Given the description of an element on the screen output the (x, y) to click on. 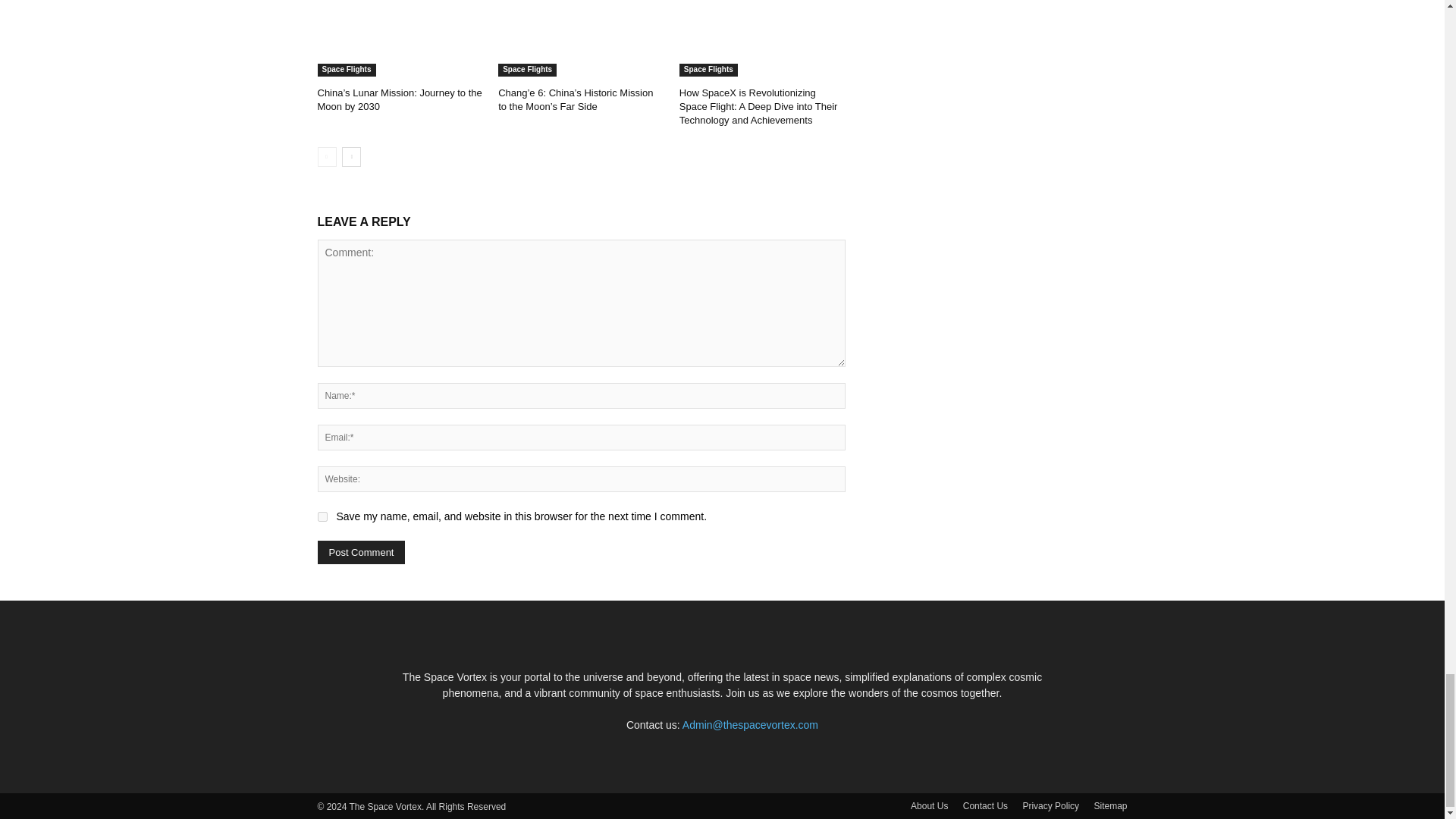
yes (321, 516)
Post Comment (360, 552)
